Given the description of an element on the screen output the (x, y) to click on. 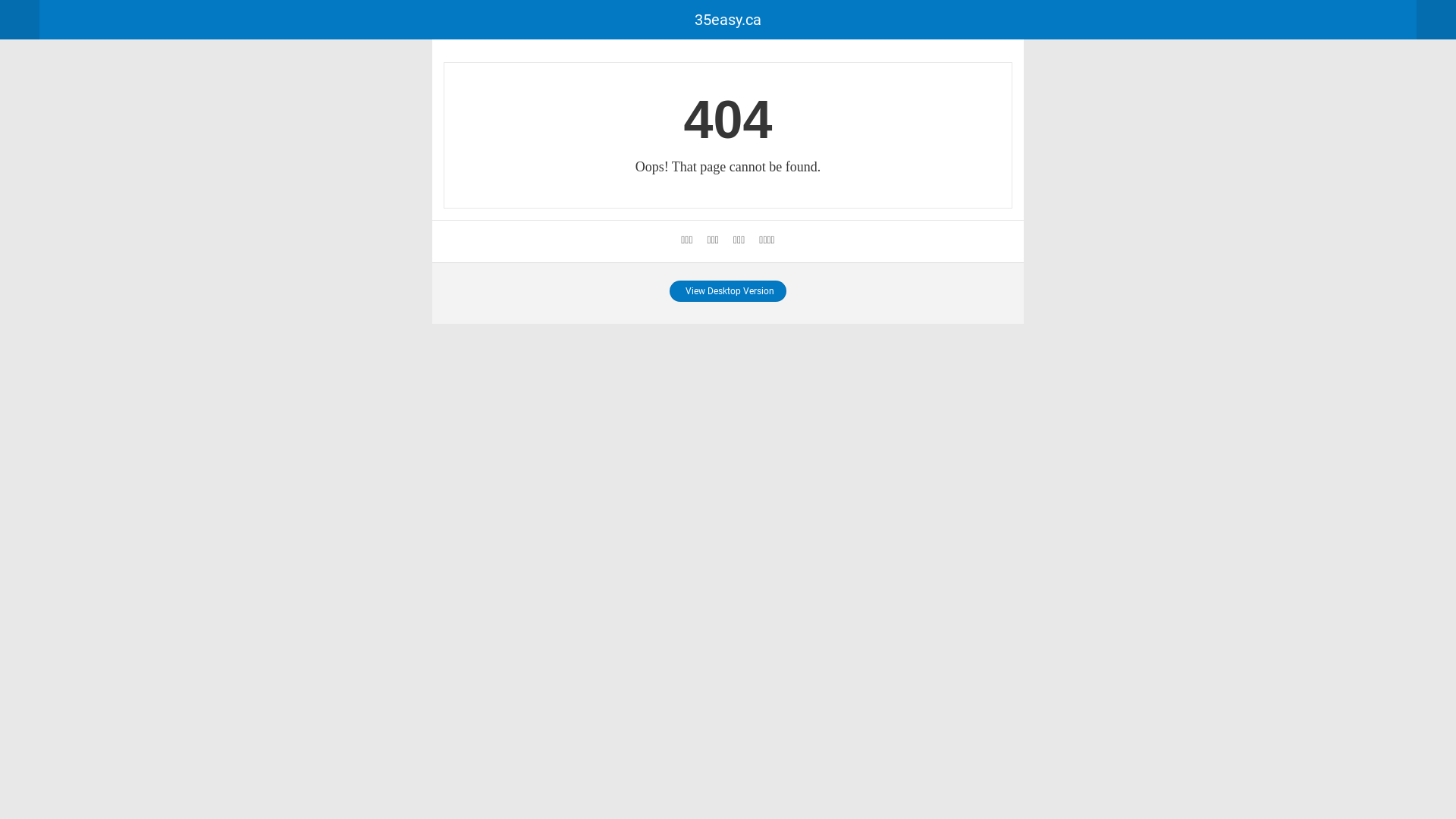
View Desktop Version Element type: text (727, 290)
